Given the description of an element on the screen output the (x, y) to click on. 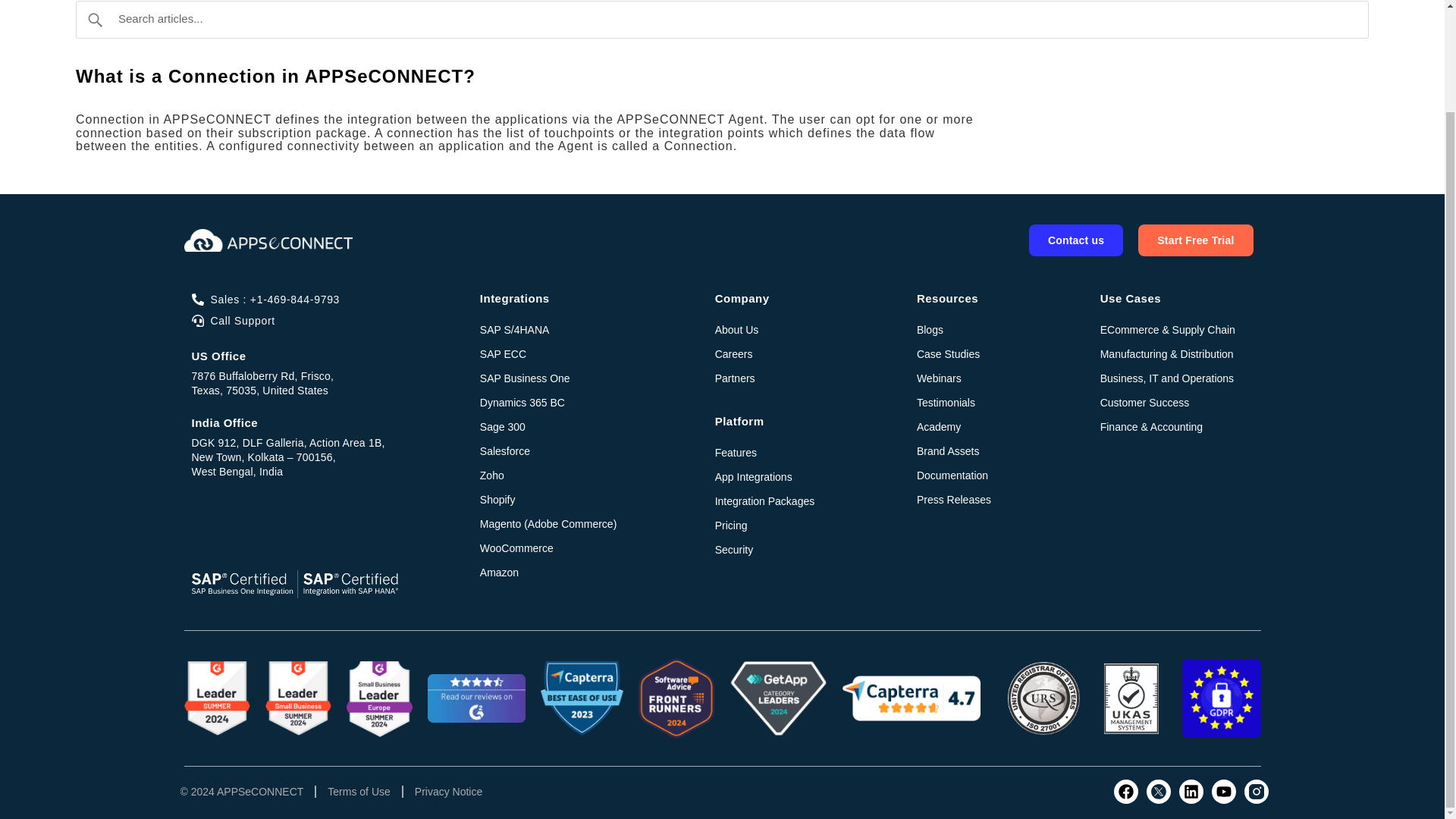
Search articles... (721, 19)
